Given the description of an element on the screen output the (x, y) to click on. 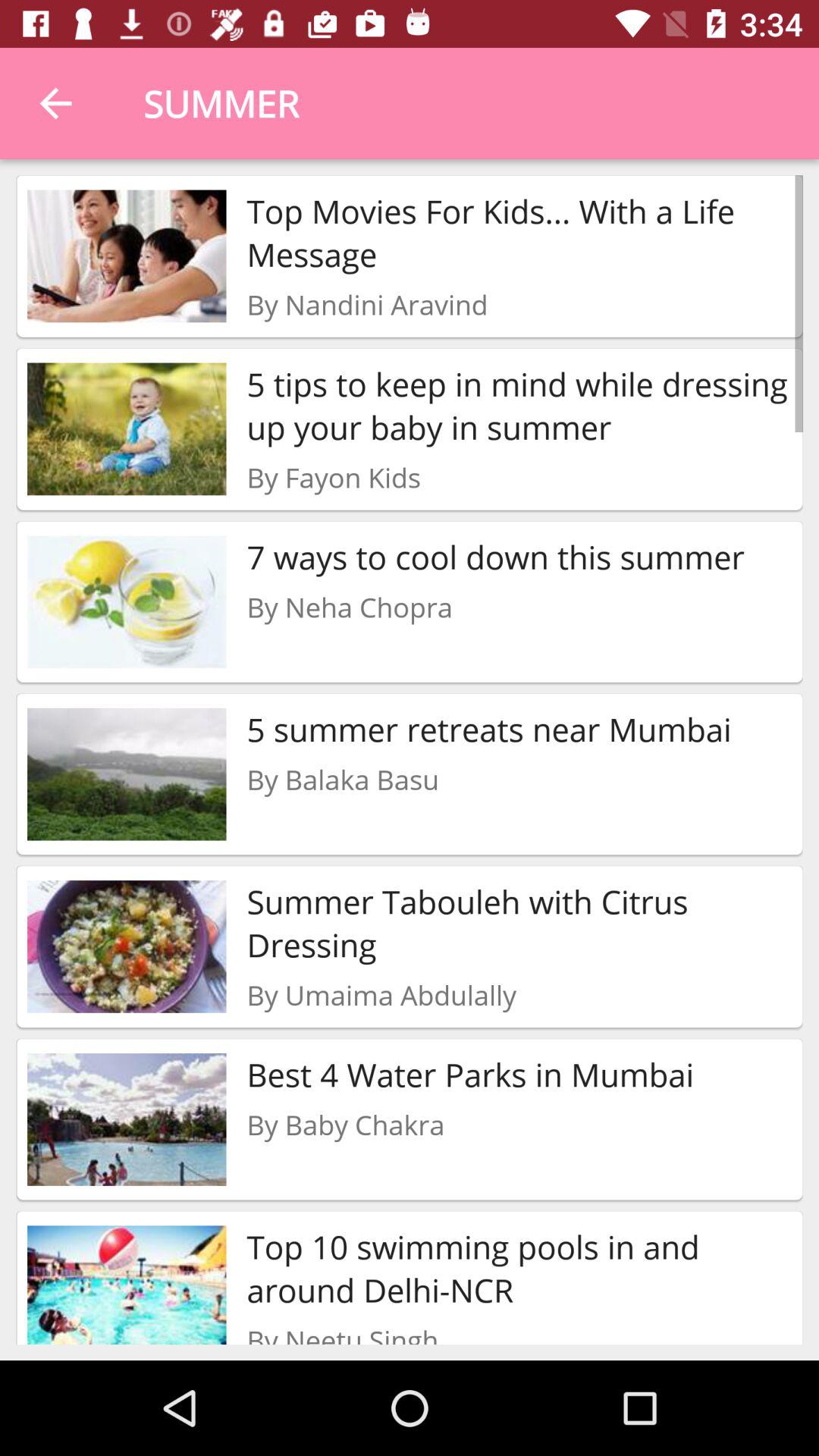
press the item below by baby chakra icon (519, 1268)
